Given the description of an element on the screen output the (x, y) to click on. 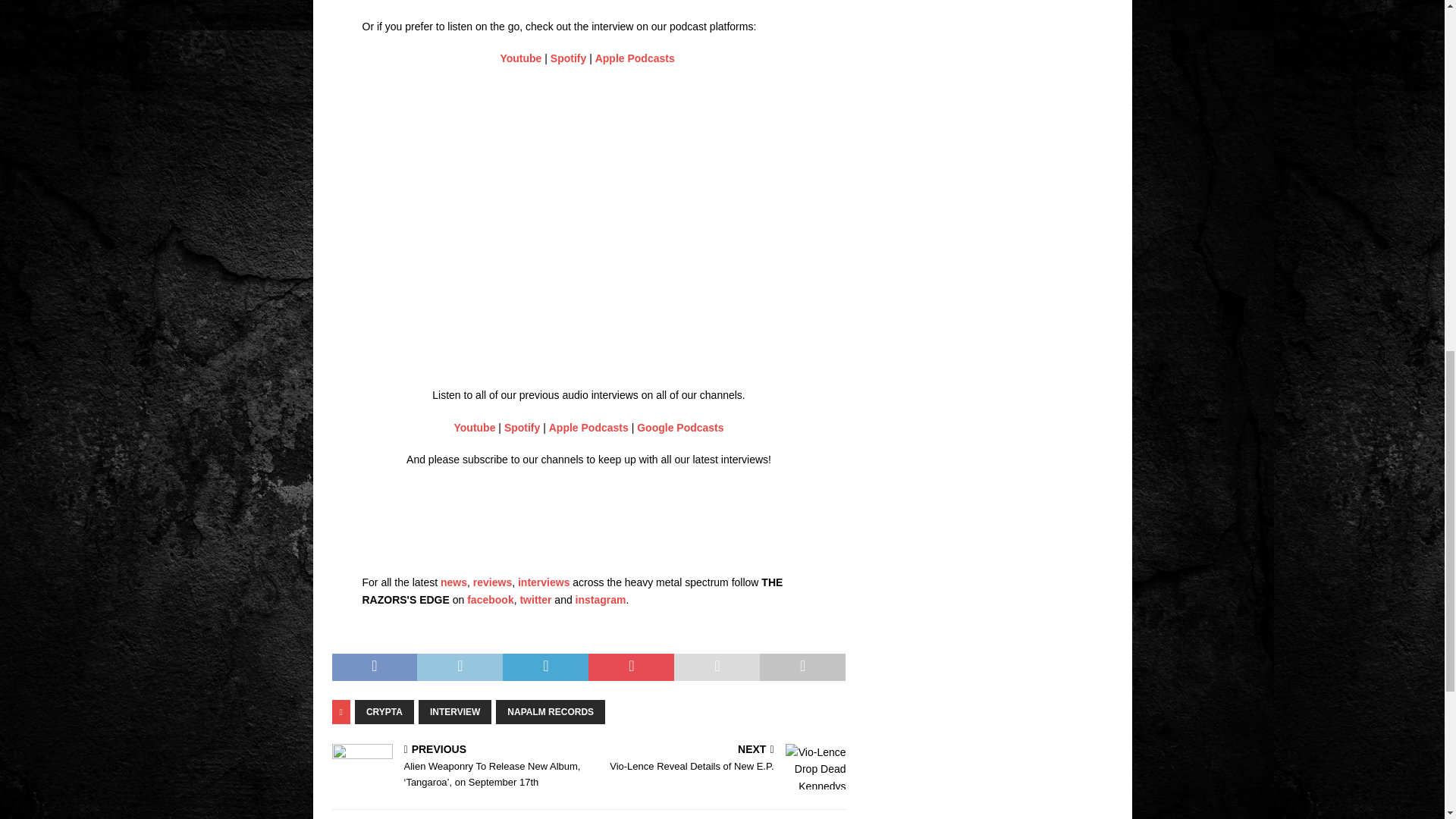
Spotify (521, 427)
facebook (490, 599)
interviews (543, 582)
YouTube video player (574, 232)
Apple Podcasts (588, 427)
reviews (492, 582)
Spotify (568, 58)
twitter (535, 599)
Apple Podcasts (635, 58)
news (454, 582)
